Given the description of an element on the screen output the (x, y) to click on. 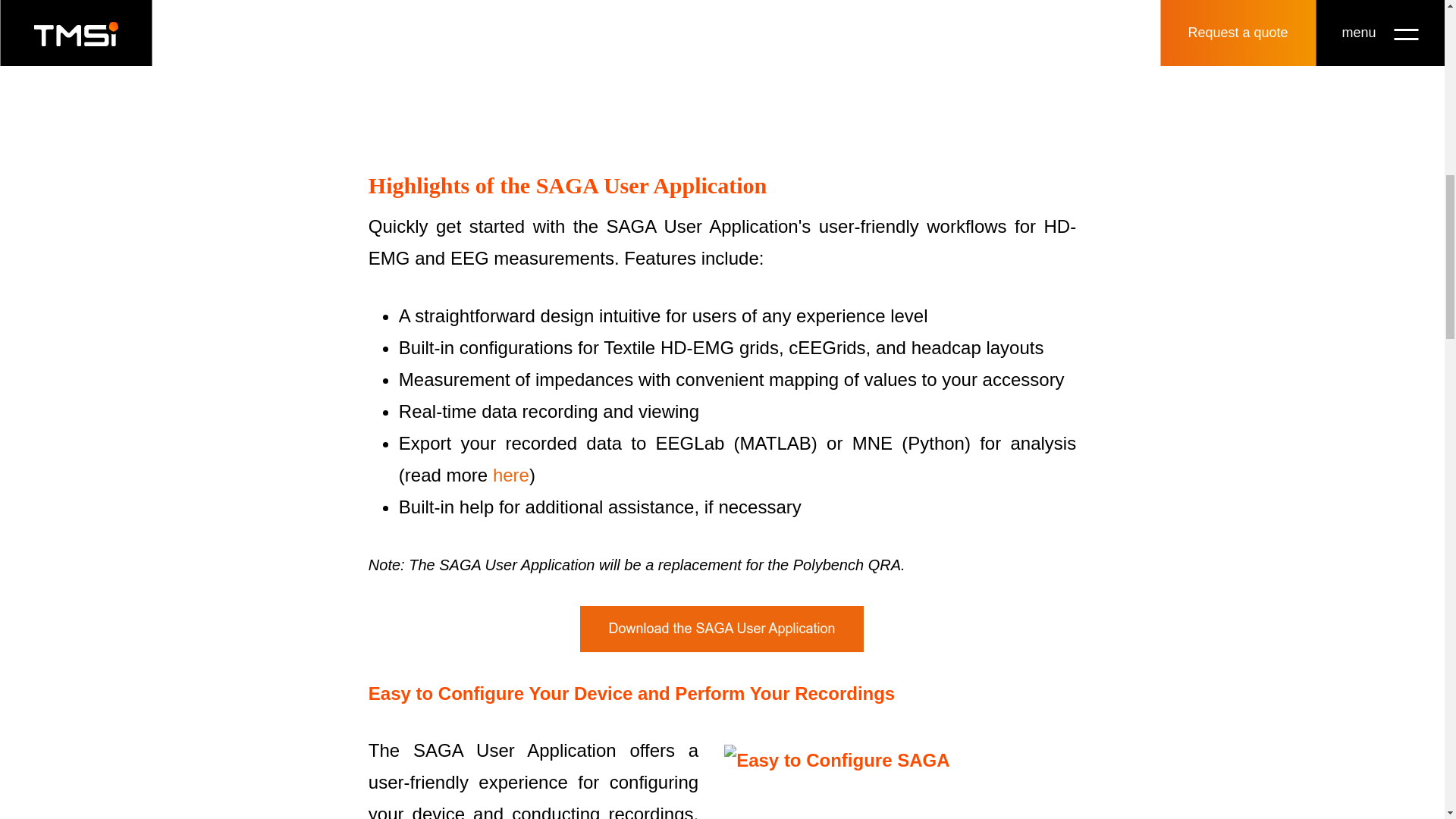
here (511, 475)
YouTube video player (721, 81)
